Given the description of an element on the screen output the (x, y) to click on. 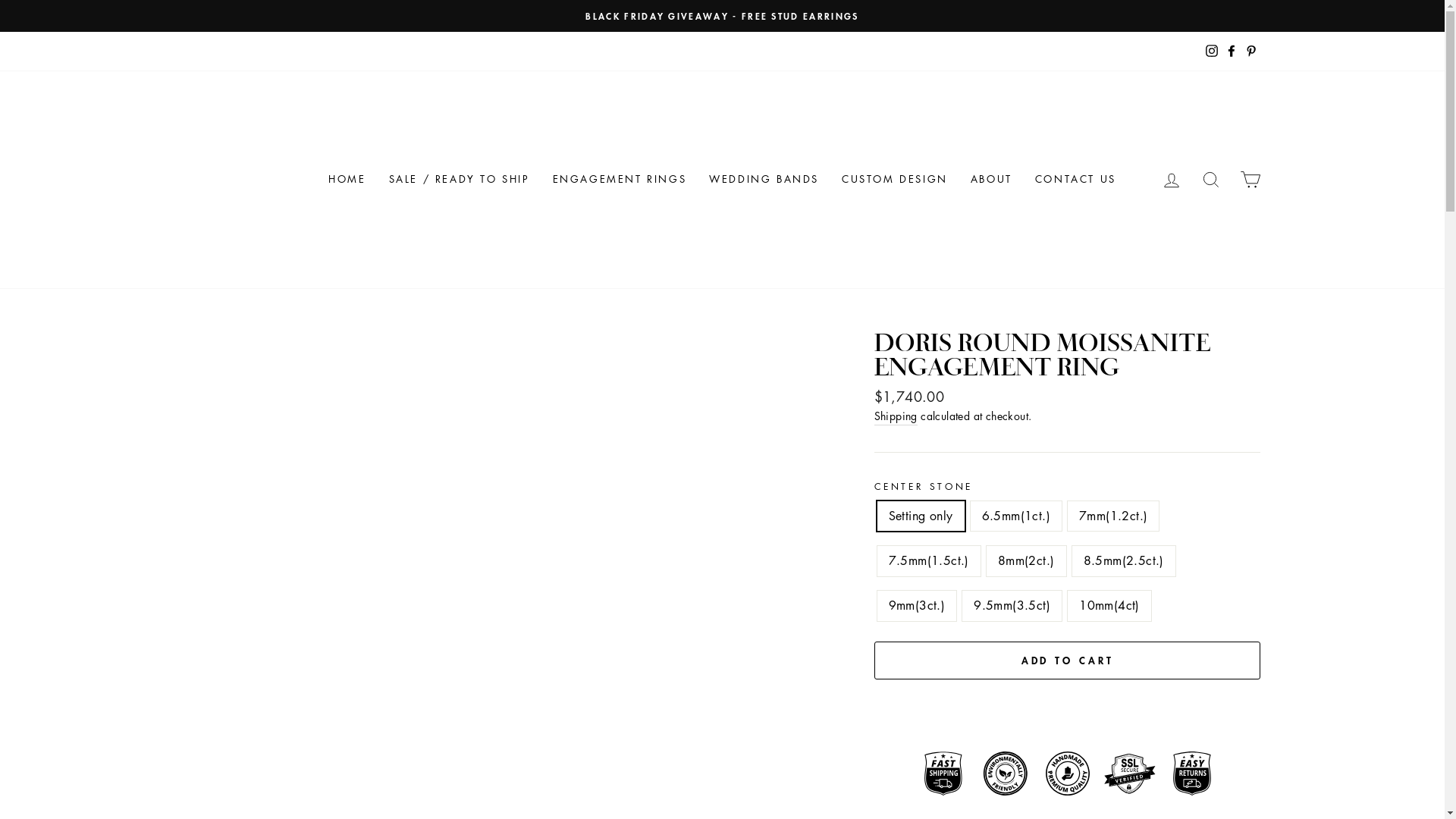
ADD TO CART Element type: text (1067, 660)
LOG IN Element type: text (1170, 179)
CART Element type: text (1249, 179)
SALE / READY TO SHIP Element type: text (459, 179)
HOME Element type: text (346, 179)
CONTACT US Element type: text (1075, 179)
SEARCH Element type: text (1210, 179)
BLACK FRIDAY GIVEAWAY - FREE STUD EARRINGS Element type: text (722, 15)
WEDDING BANDS Element type: text (763, 179)
ABOUT Element type: text (991, 179)
ENGAGEMENT RINGS Element type: text (619, 179)
Skip to content Element type: text (0, 0)
CUSTOM DESIGN Element type: text (894, 179)
Pinterest Element type: text (1250, 51)
Instagram Element type: text (1210, 51)
Facebook Element type: text (1230, 51)
Shipping Element type: text (895, 416)
